Given the description of an element on the screen output the (x, y) to click on. 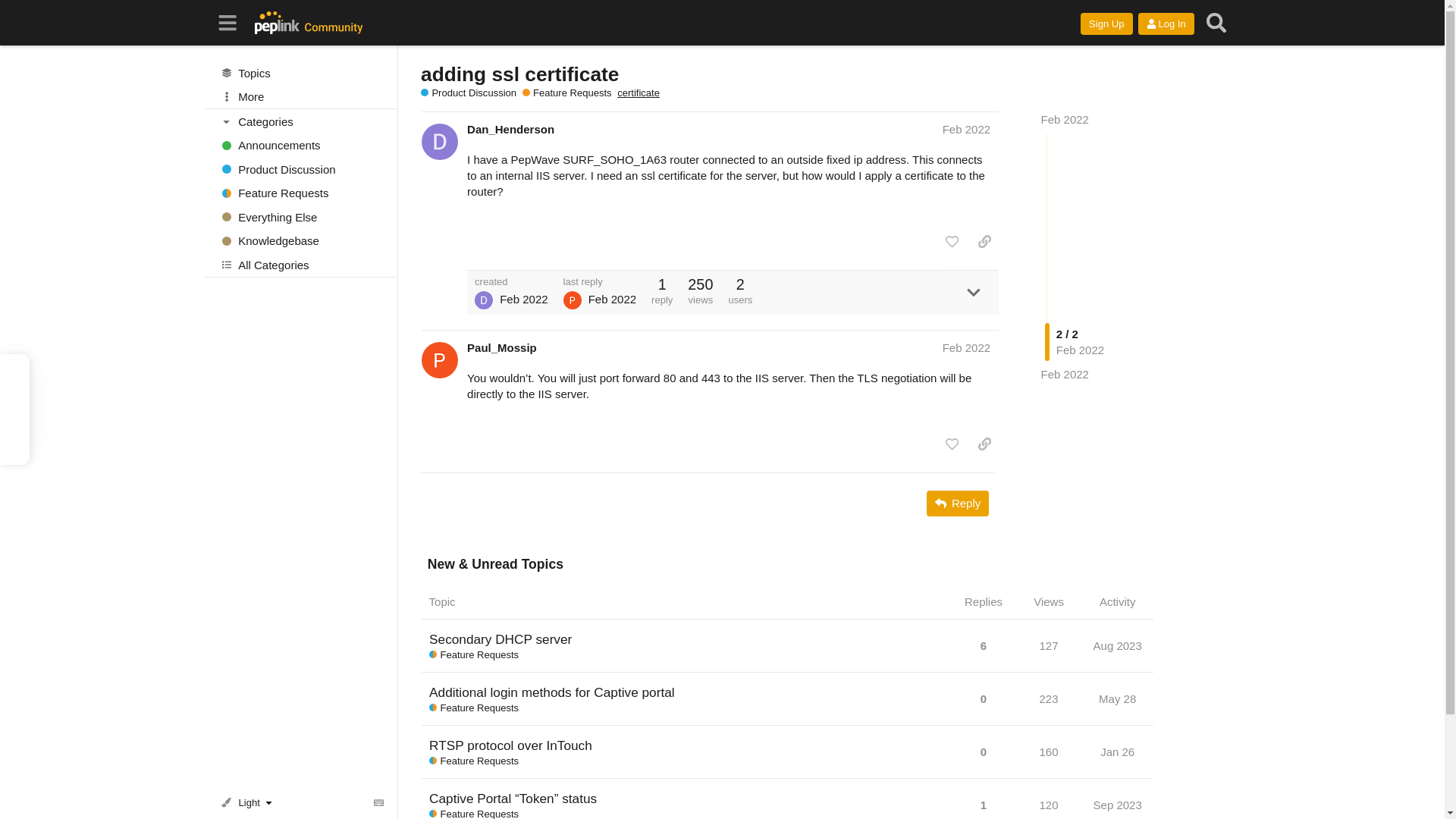
Product Discussion (301, 168)
Everything Else (301, 216)
Sign Up (1106, 24)
All Topics (301, 72)
last reply (600, 281)
Feb 2022 (1065, 374)
Light (249, 802)
All Categories (301, 264)
Toggle section (301, 120)
Feature Requests (566, 92)
Feb 2022 (966, 128)
Feature Requests (301, 192)
Catch exciting news that we have to share with you. (301, 145)
certificate (638, 92)
